Given the description of an element on the screen output the (x, y) to click on. 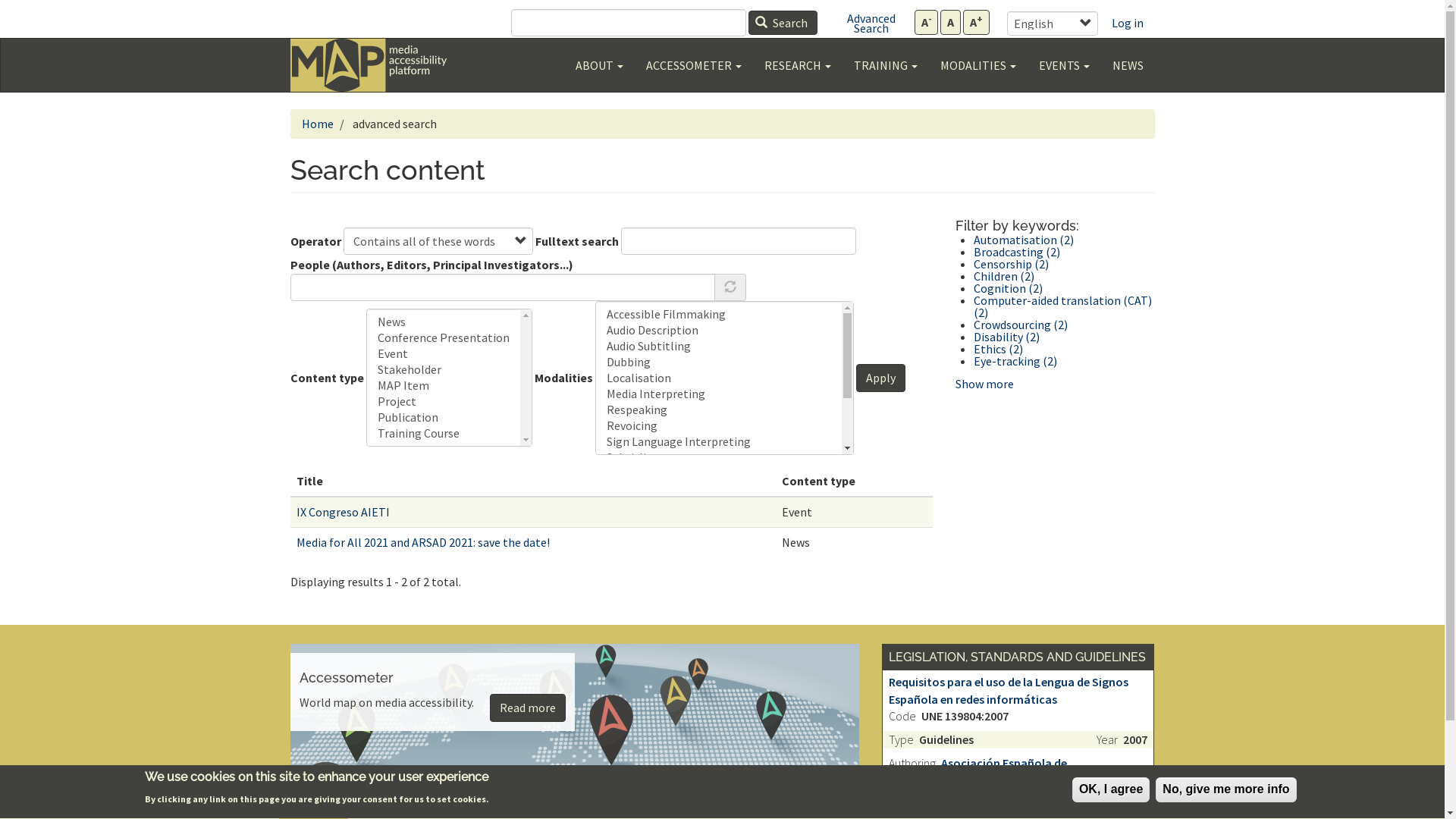
LEGISLATION, STANDARDS AND GUIDELINES Element type: text (1016, 656)
Computer-aided translation (CAT) (2) Element type: text (1062, 306)
Eye-tracking (2) Element type: text (1015, 360)
Home Element type: hover (368, 64)
Ethics (2) Element type: text (997, 348)
TRAINING Element type: text (884, 64)
NEWS Element type: text (1127, 64)
Search Element type: text (781, 22)
Broadcasting (2) Element type: text (1016, 251)
Cognition (2) Element type: text (1007, 287)
A- Element type: text (926, 21)
Crowdsourcing (2) Element type: text (1020, 324)
Show more Element type: text (984, 383)
Advanced
Search Element type: text (870, 22)
A Element type: text (950, 21)
A+ Element type: text (976, 21)
Children (2) Element type: text (1003, 275)
Media for All 2021 and ARSAD 2021: save the date! Element type: text (422, 541)
Censorship (2) Element type: text (1010, 263)
Log in Element type: text (1126, 22)
MODALITIES Element type: text (977, 64)
Home Element type: text (317, 123)
Read more Element type: text (527, 707)
OK, I agree Element type: text (1110, 789)
ACCESSOMETER Element type: text (692, 64)
Disability (2) Element type: text (1006, 336)
ABOUT Element type: text (599, 64)
Skip to main content Element type: text (1154, 7)
EVENTS Element type: text (1063, 64)
RESEARCH Element type: text (796, 64)
No, give me more info Element type: text (1225, 789)
Go Element type: text (1106, 15)
IX Congreso AIETI Element type: text (342, 511)
Apply Element type: text (879, 378)
Automatisation (2) Element type: text (1023, 239)
